Given the description of an element on the screen output the (x, y) to click on. 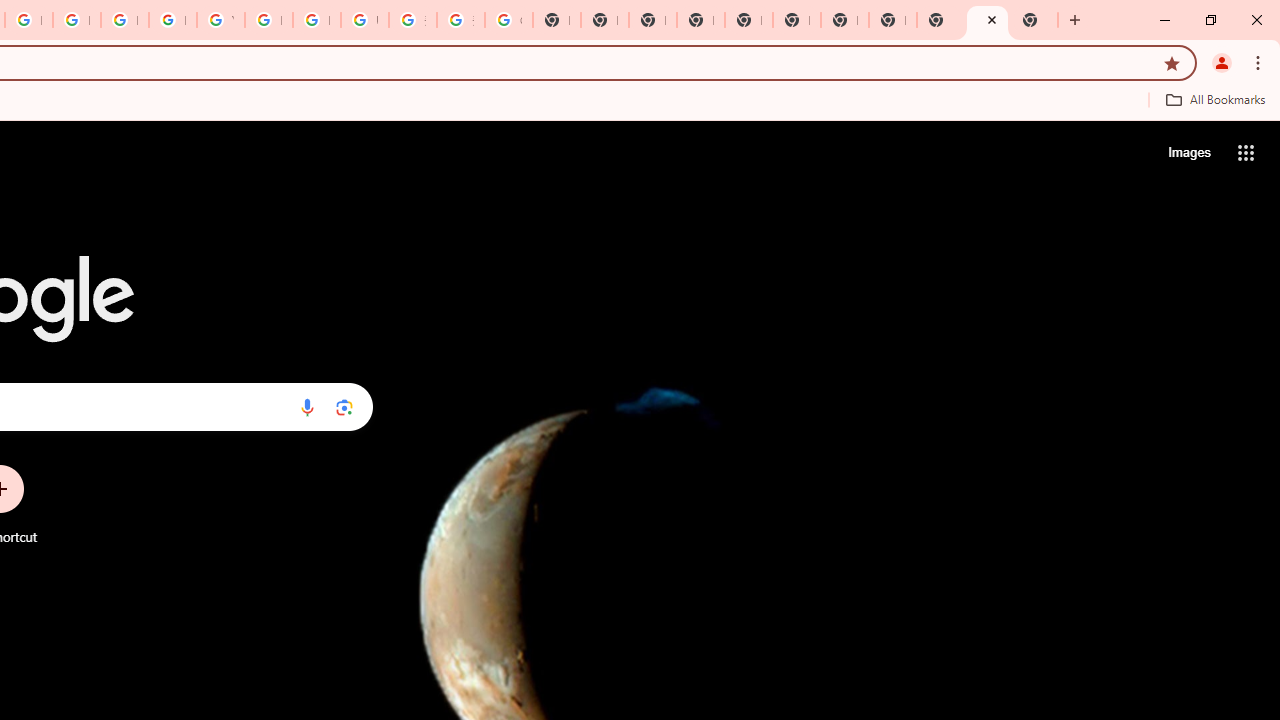
YouTube (220, 20)
